Given the description of an element on the screen output the (x, y) to click on. 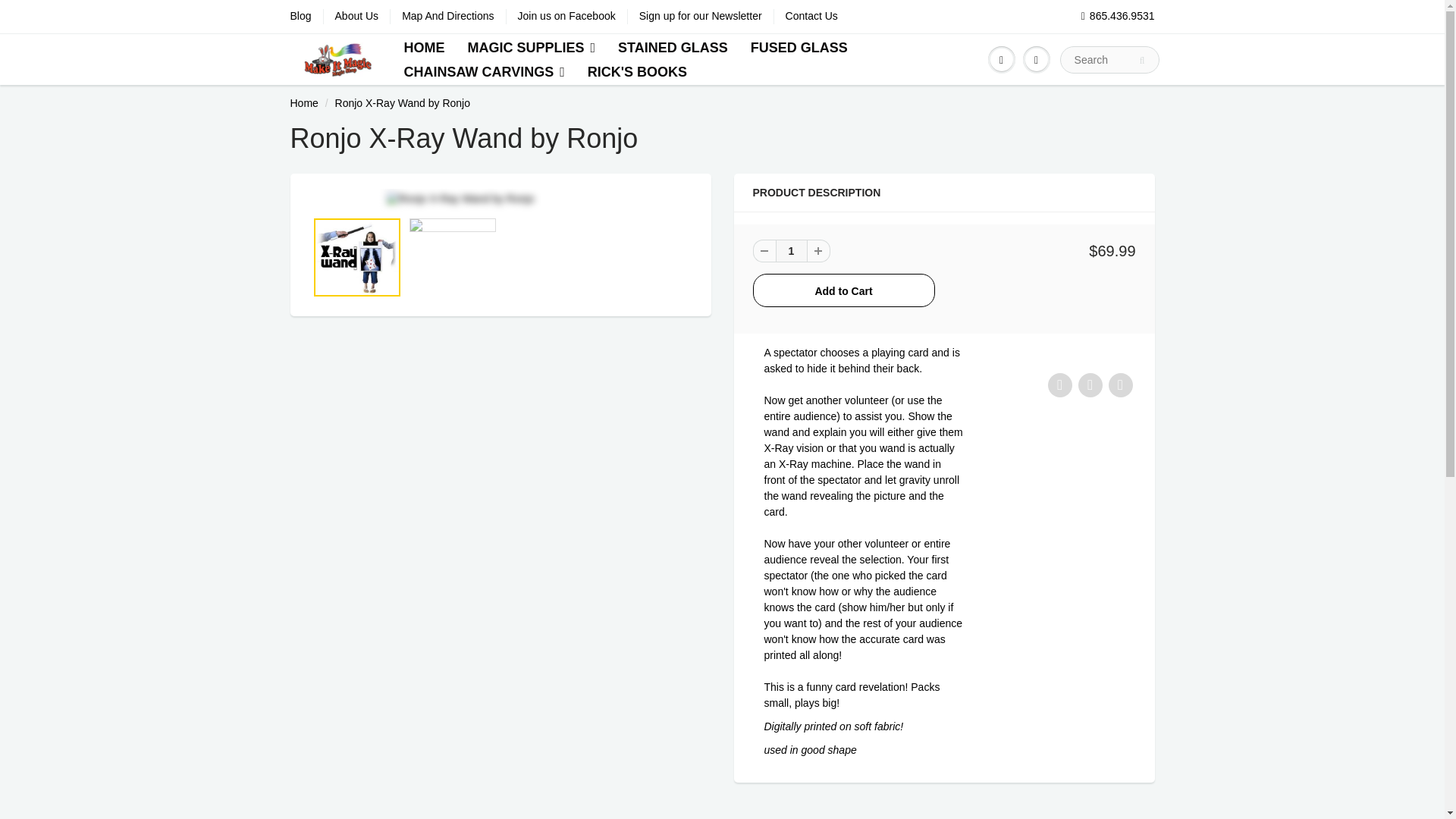
HOME (423, 47)
1 (790, 250)
Ronjo X-Ray Wand by Ronjo (500, 199)
Sign up for our Newsletter (700, 16)
Map And Directions (447, 16)
Add to Cart (843, 290)
About Us (356, 16)
Blog (300, 16)
865.436.9531 (1117, 16)
Home (303, 102)
